Given the description of an element on the screen output the (x, y) to click on. 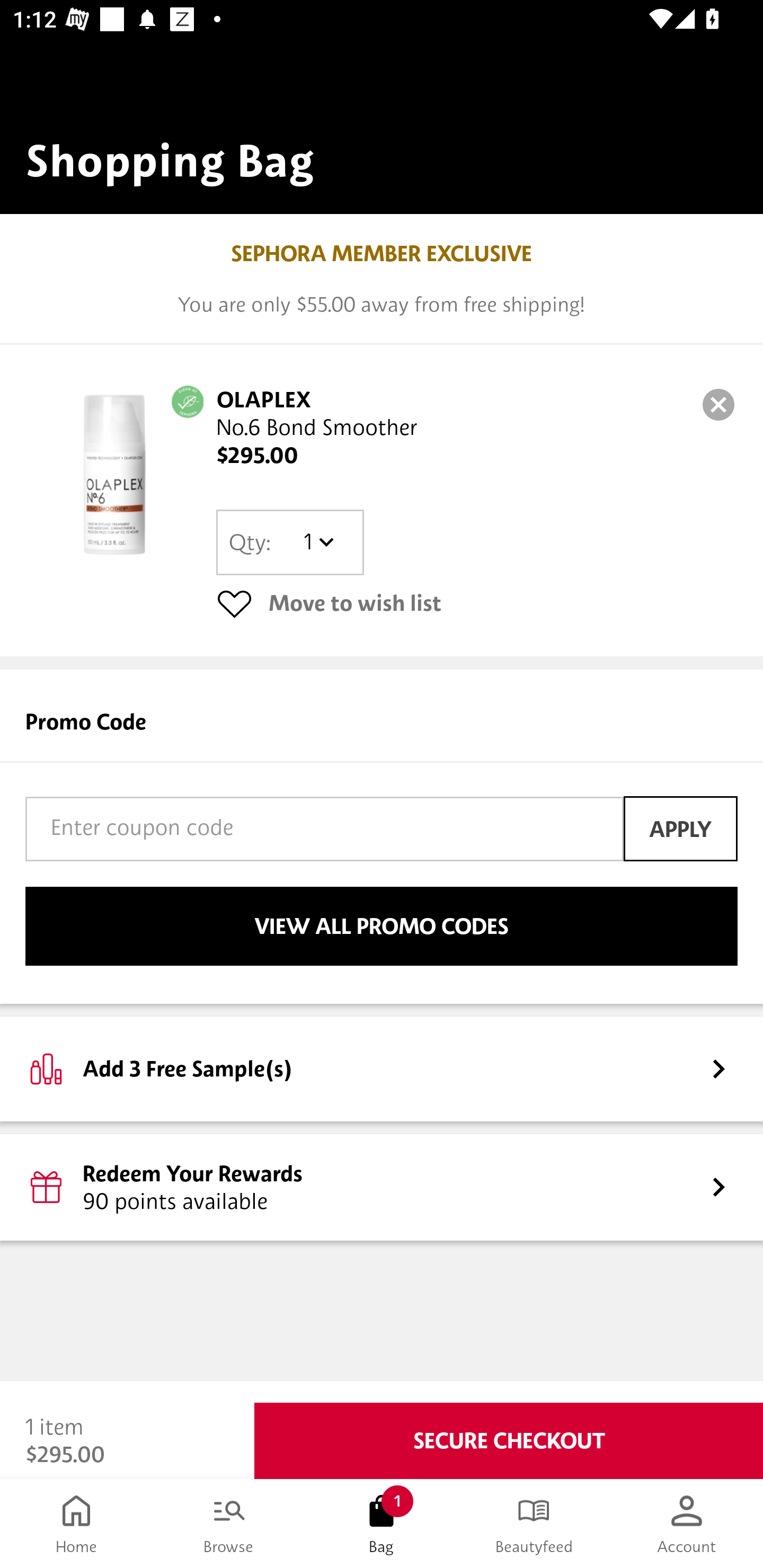
1 (317, 542)
Move to wish list (476, 602)
APPLY (680, 828)
Enter coupon code (324, 828)
VIEW ALL PROMO CODES (381, 926)
Add 3 Free Sample(s) (381, 1068)
Redeem Your Rewards 90 points available (381, 1186)
SECURE CHECKOUT (508, 1440)
Home (76, 1523)
Browse (228, 1523)
Beautyfeed (533, 1523)
Account (686, 1523)
